Given the description of an element on the screen output the (x, y) to click on. 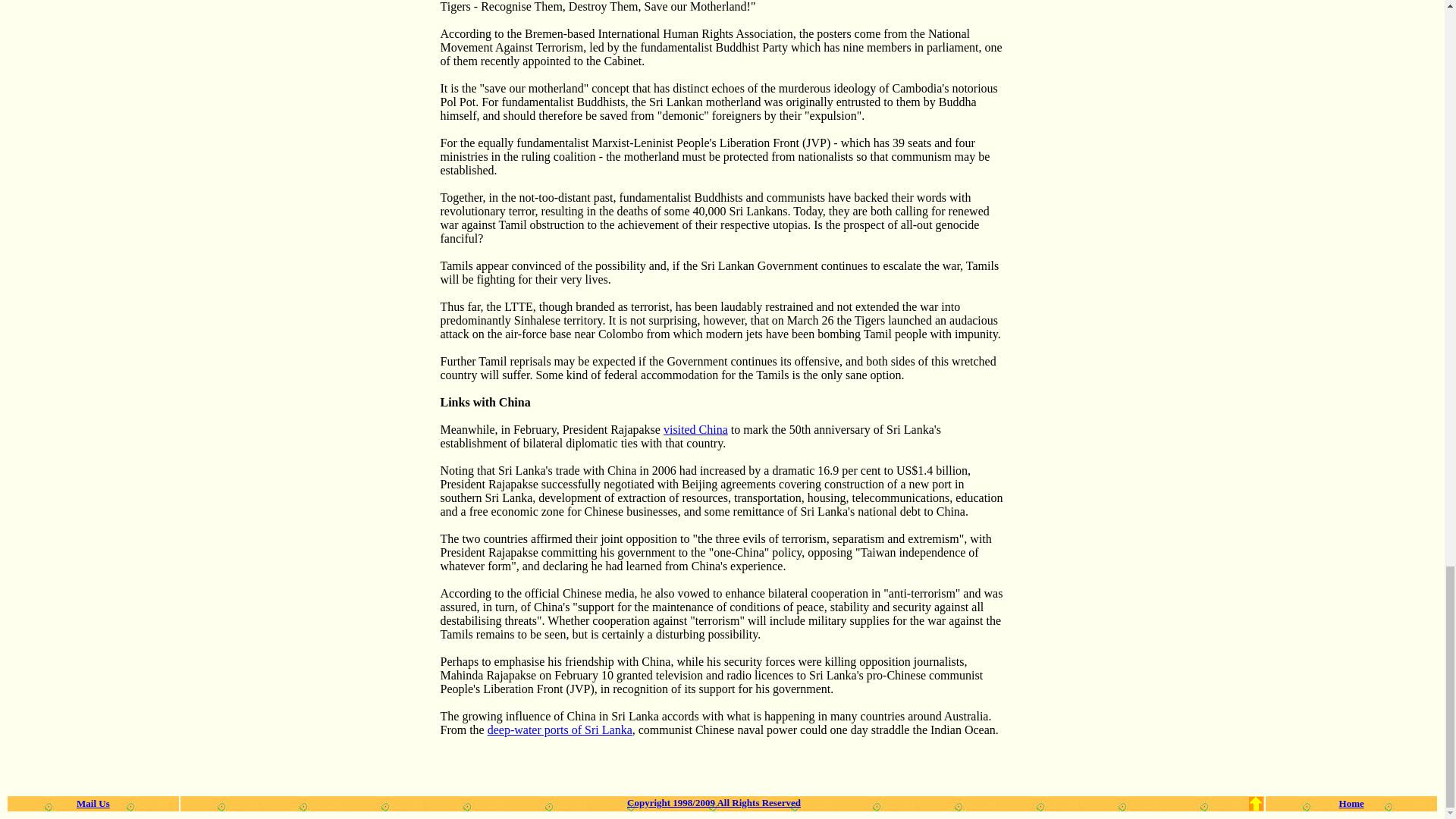
Mail Us (93, 802)
deep-water ports of Sri Lanka (559, 729)
visited China (695, 429)
Home (1351, 802)
